Given the description of an element on the screen output the (x, y) to click on. 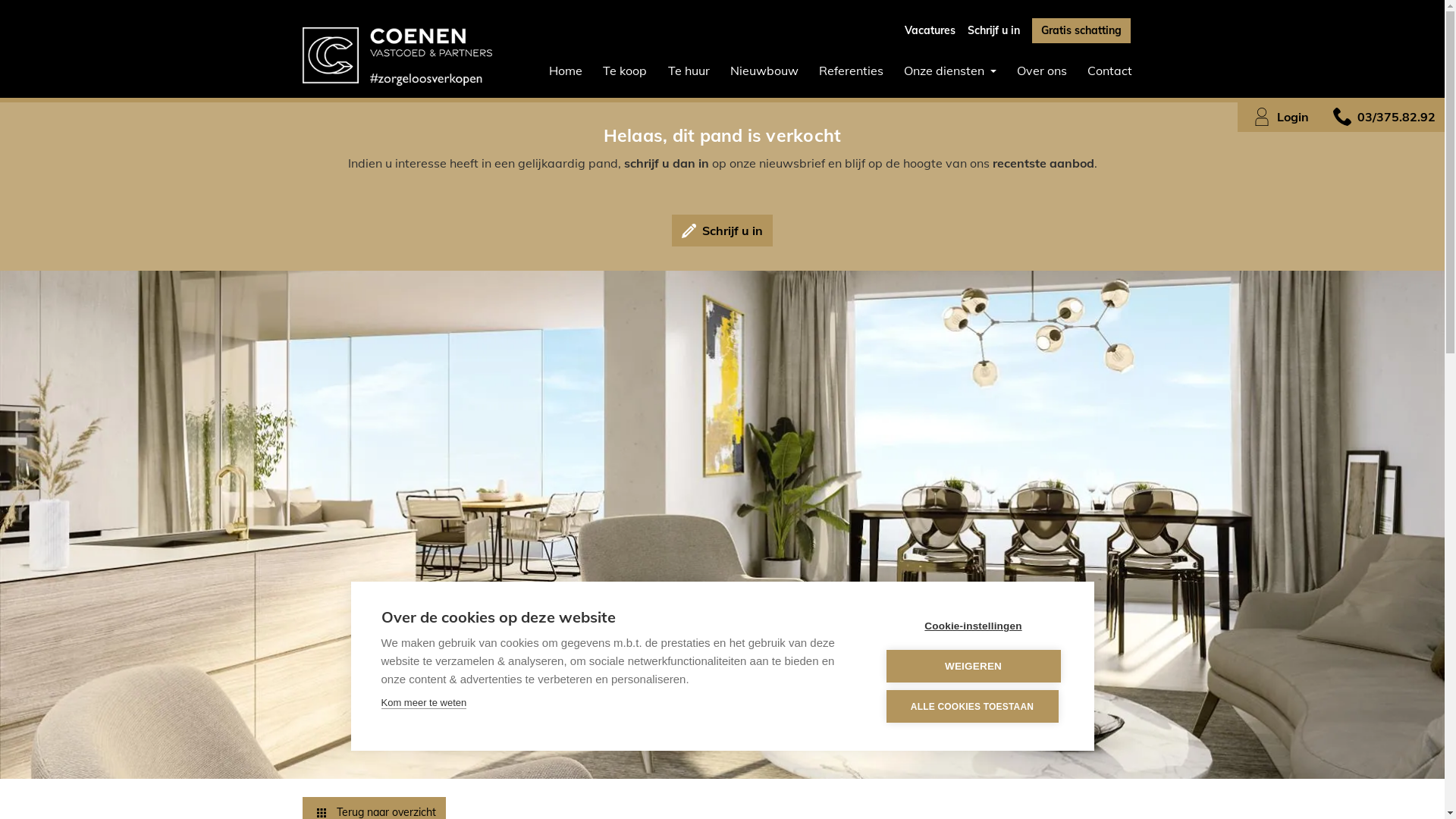
Cookie-instellingen Element type: text (972, 625)
Referenties Element type: text (850, 70)
WEIGEREN Element type: text (972, 665)
Onze diensten Element type: text (950, 70)
Te huur Element type: text (688, 70)
Link homepage Element type: hover (396, 56)
Vacatures Element type: text (928, 30)
Nieuwbouw Element type: text (763, 70)
Home Element type: text (566, 70)
Schrijf u in Element type: text (993, 30)
ALLE COOKIES TOESTAAN Element type: text (971, 706)
Over ons Element type: text (1041, 70)
Kom meer te weten Element type: text (423, 702)
Gratis schatting Element type: text (1080, 30)
Menu overslaan en naar de inhoud gaan Element type: text (0, 0)
Schrijf u in Element type: text (721, 230)
03/375.82.92 Element type: text (1380, 116)
Contact Element type: text (1109, 70)
Te koop Element type: text (625, 70)
Login Element type: text (1277, 116)
